Given the description of an element on the screen output the (x, y) to click on. 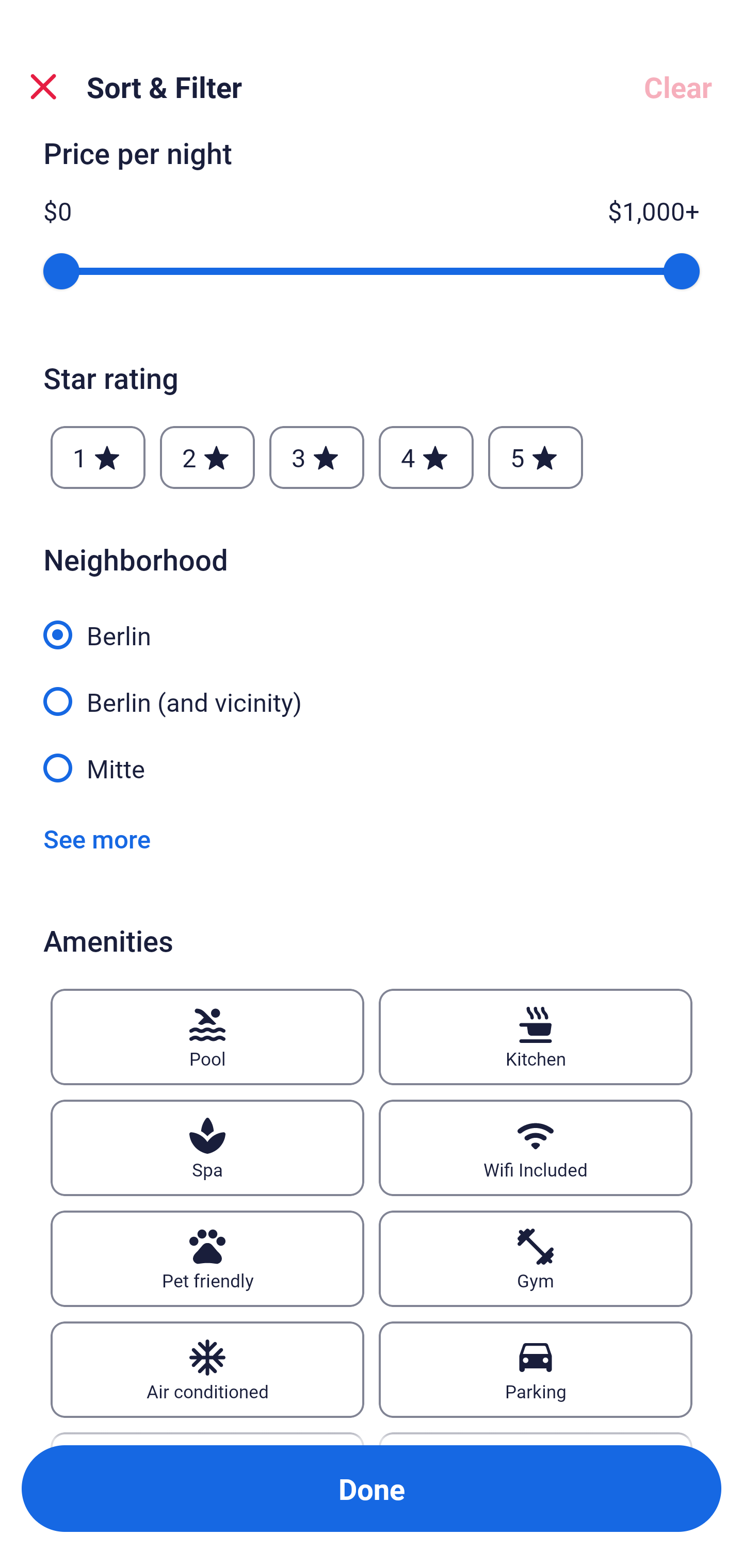
Close Sort and Filter (43, 86)
Clear (677, 86)
1 (97, 456)
2 (206, 456)
3 (316, 456)
4 (426, 456)
5 (535, 456)
Berlin (and vicinity) (371, 690)
Mitte (371, 767)
See more See more neighborhoods Link (96, 837)
Pool (207, 1037)
Kitchen (535, 1037)
Spa (207, 1147)
Wifi Included (535, 1147)
Pet friendly (207, 1258)
Gym (535, 1258)
Air conditioned (207, 1369)
Parking (535, 1369)
Apply and close Sort and Filter Done (371, 1488)
